Given the description of an element on the screen output the (x, y) to click on. 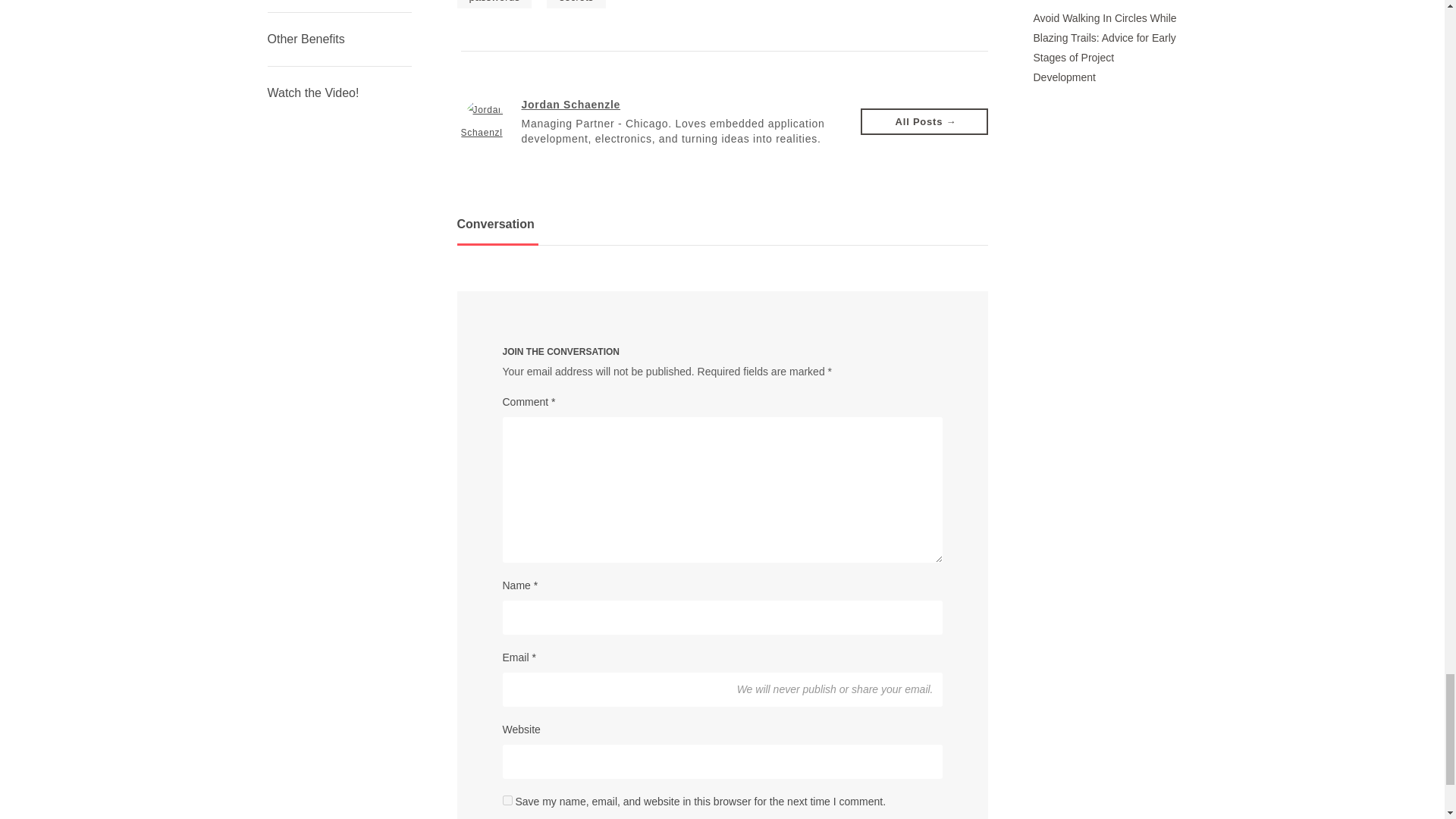
yes (507, 800)
